Given the description of an element on the screen output the (x, y) to click on. 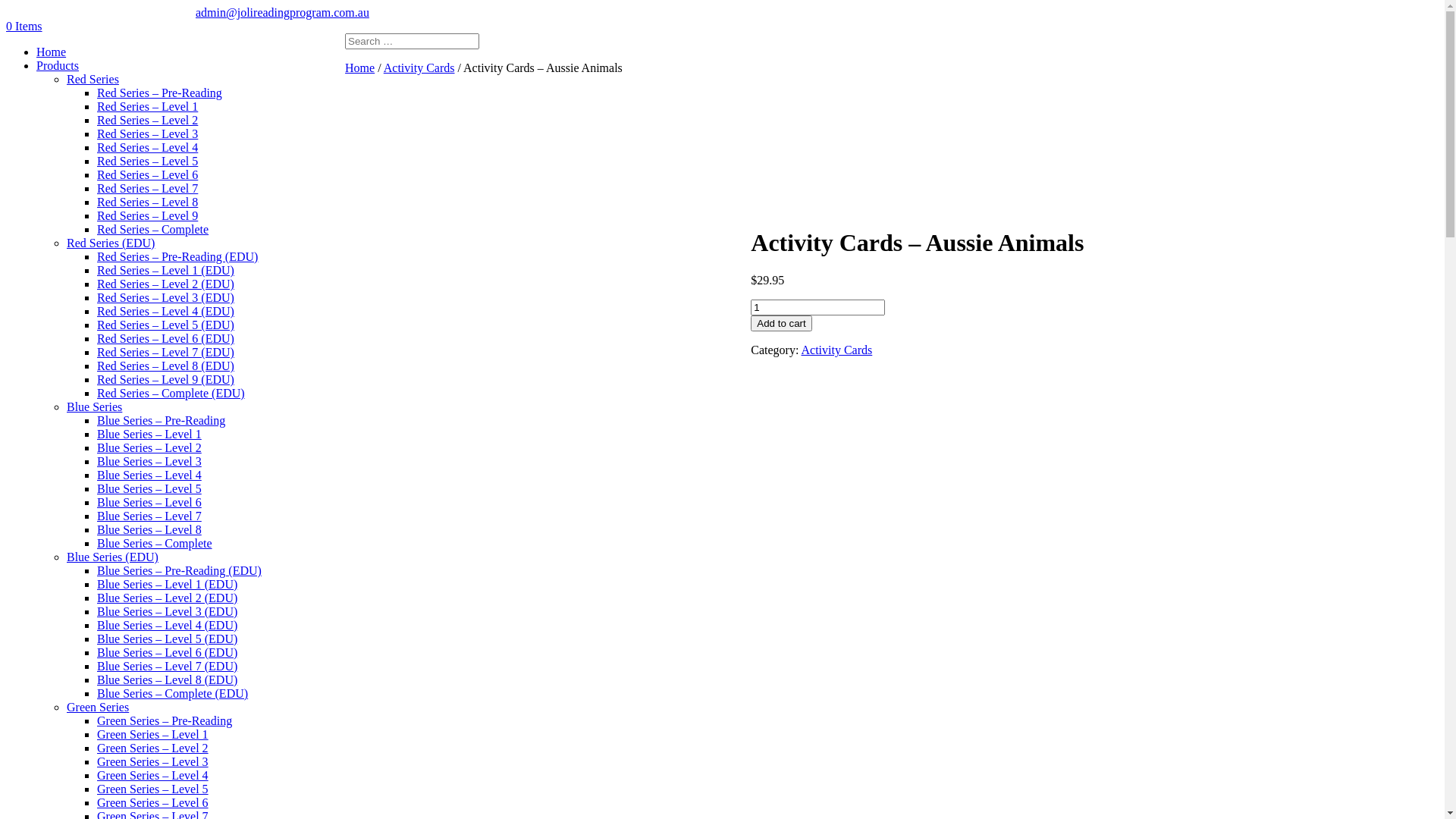
Activity Cards Element type: text (836, 349)
Search for: Element type: hover (412, 41)
Activity Cards Element type: text (419, 67)
Red Series Element type: text (92, 78)
Blue Series (EDU) Element type: text (112, 556)
Qty Element type: hover (817, 307)
Products Element type: text (57, 65)
Blue Series Element type: text (94, 406)
Green Series Element type: text (97, 706)
Add to cart Element type: text (780, 323)
Home Element type: text (359, 67)
Home Element type: text (50, 51)
Red Series (EDU) Element type: text (110, 242)
admin@jolireadingprogram.com.au Element type: text (282, 12)
0 Items Element type: text (24, 25)
